Given the description of an element on the screen output the (x, y) to click on. 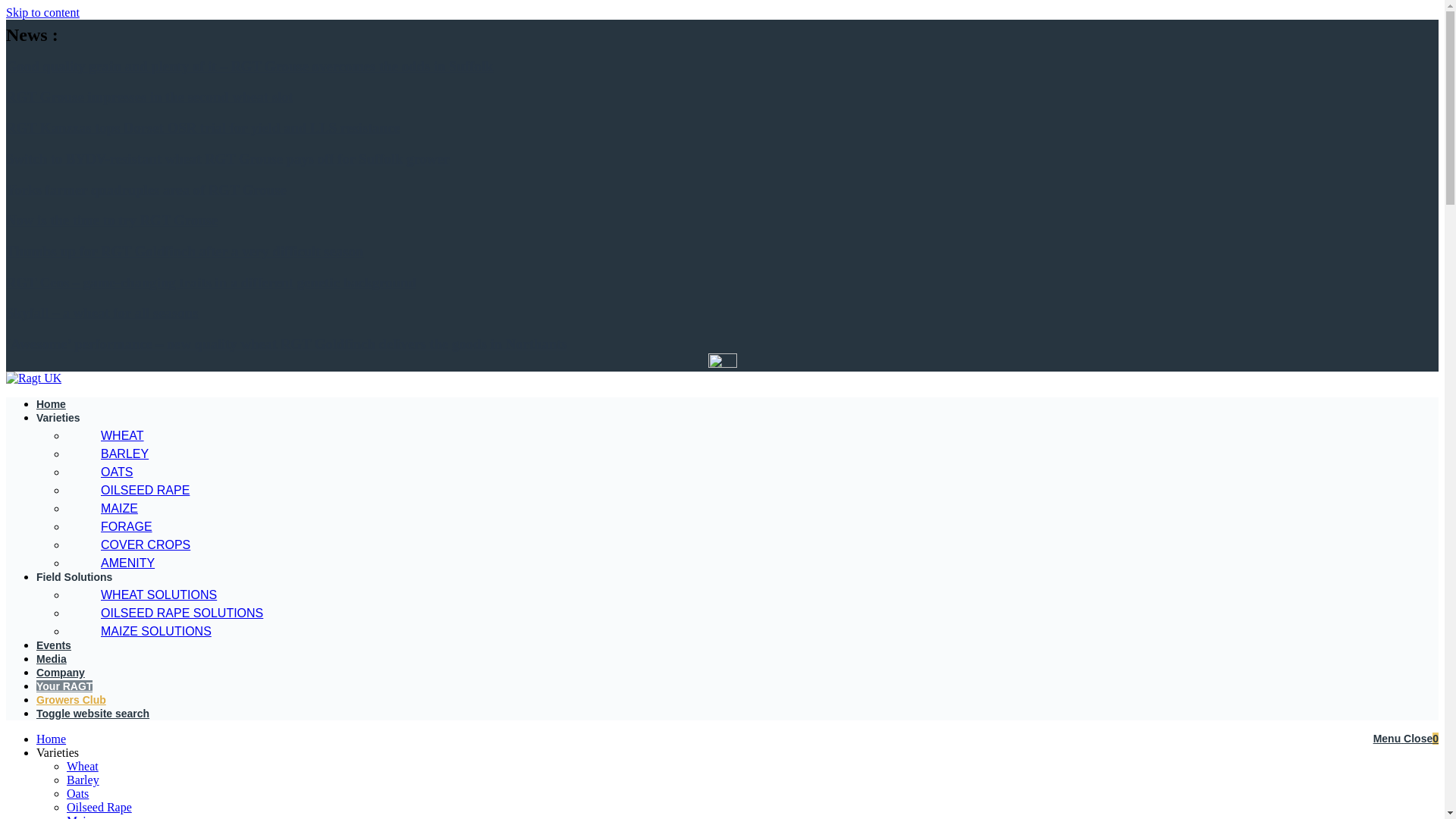
Barley (82, 779)
OATS (105, 471)
Varieties (57, 752)
RGT Grouse impresses in the second wheat slot (149, 96)
WHEAT (110, 435)
Varieties (58, 417)
FORAGE (114, 526)
Toggle website search (92, 713)
Oats (77, 793)
